Given the description of an element on the screen output the (x, y) to click on. 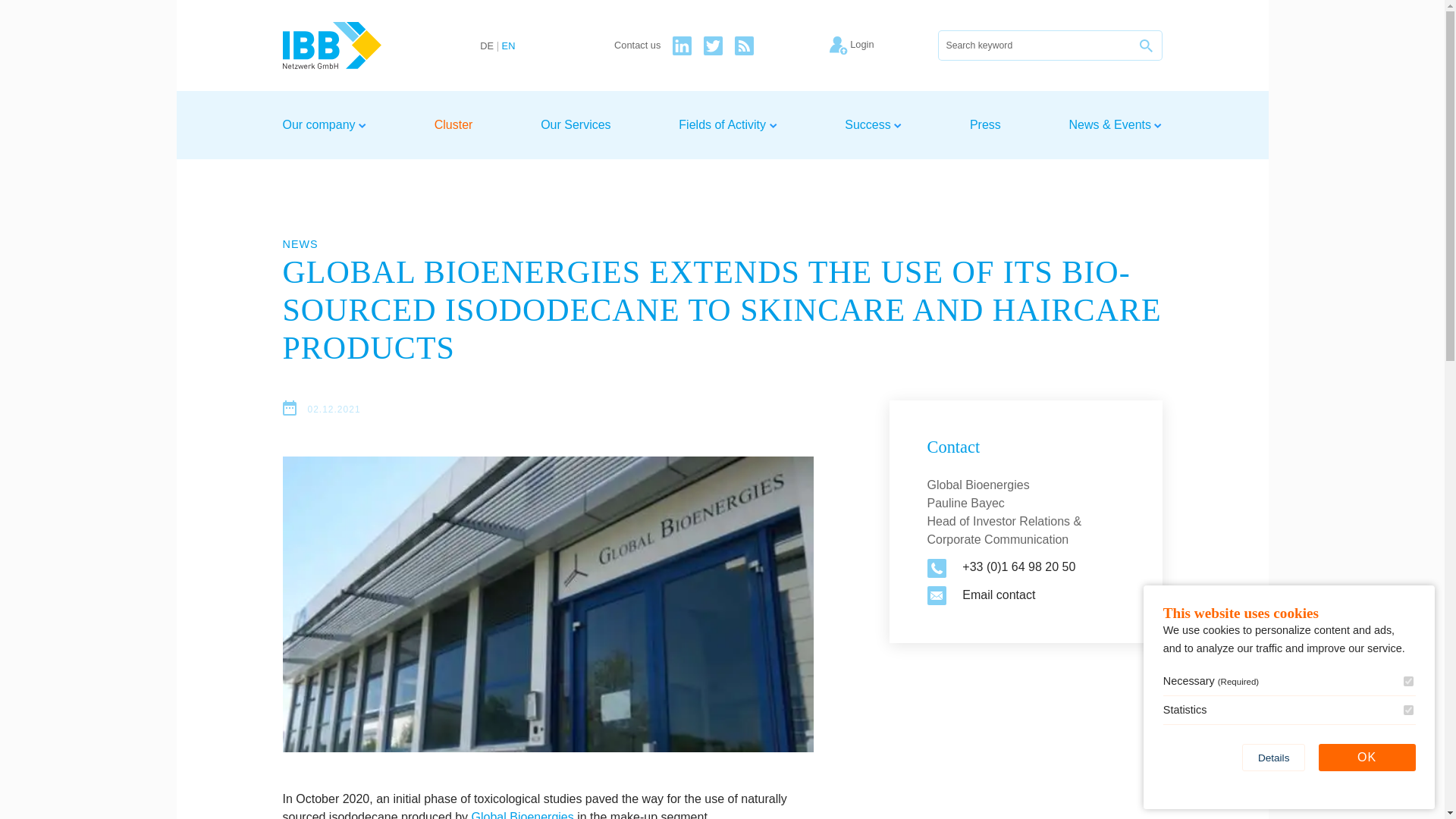
on (1408, 709)
OK (1367, 757)
Our Services (575, 124)
RSS (744, 45)
on (1408, 681)
Details (1273, 757)
Cluster (453, 124)
EN (508, 46)
Twitter (712, 45)
Fields of Activity (727, 124)
Login (883, 45)
LinkedIn (681, 45)
DE (486, 46)
Our company (323, 124)
